Given the description of an element on the screen output the (x, y) to click on. 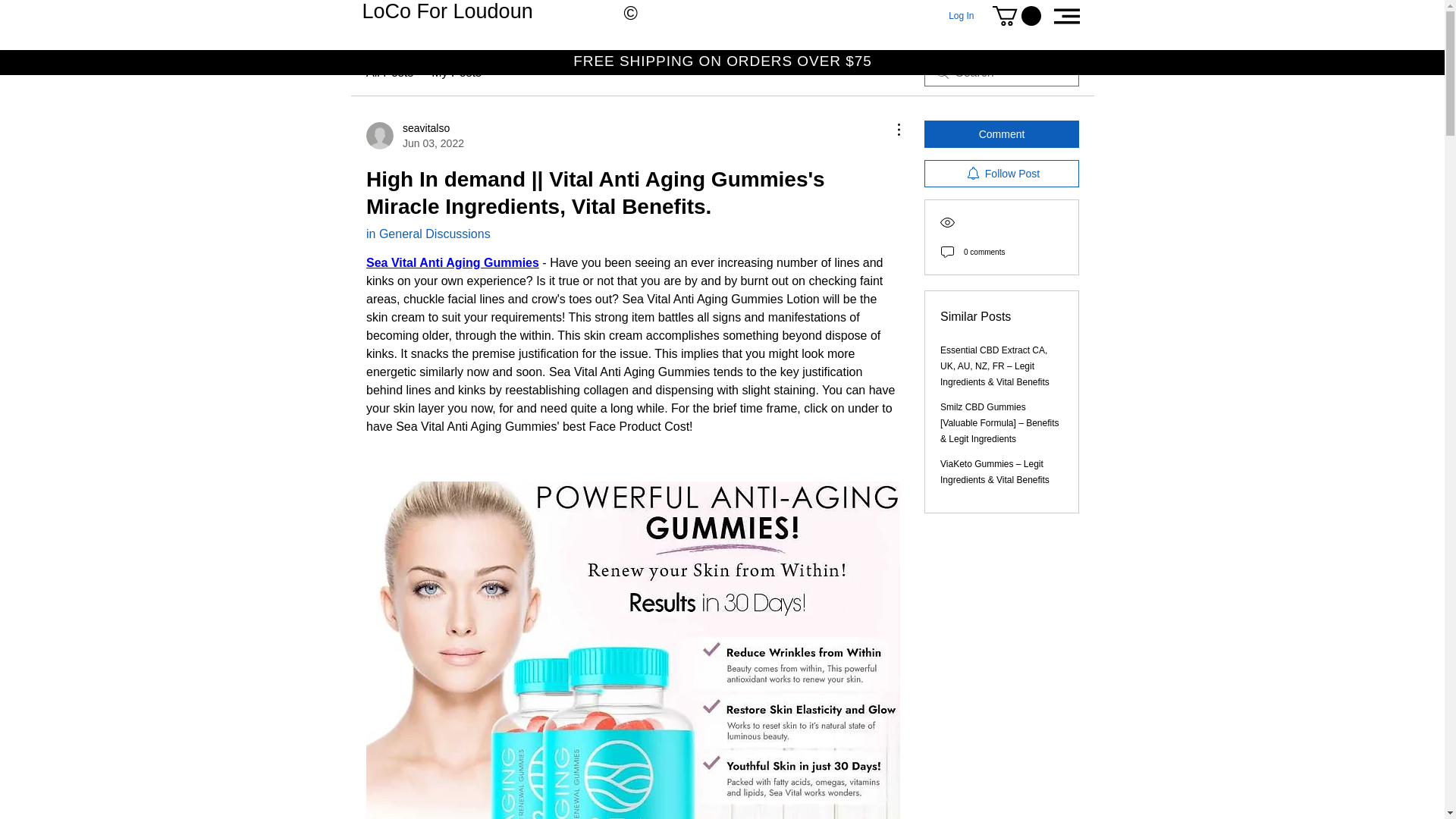
Follow Post (1001, 173)
Comment (1001, 134)
LoCo For Loudoun (447, 11)
My Posts (415, 135)
All Posts (455, 72)
Log In (389, 72)
in General Discussions (960, 15)
Sea Vital Anti Aging Gummies (428, 233)
